Given the description of an element on the screen output the (x, y) to click on. 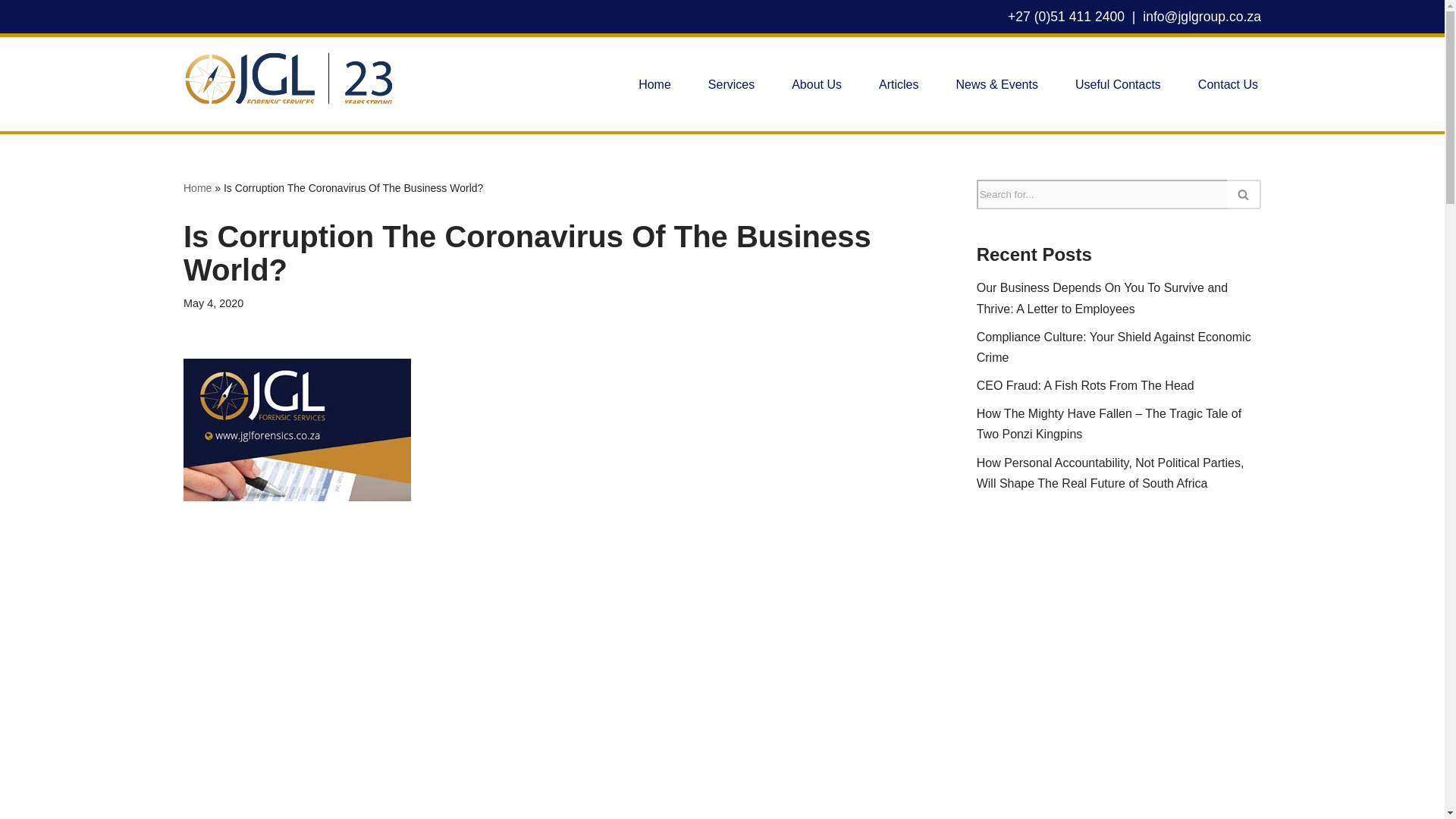
Is Corruption The Coronavirus Of The Business World? 1 (296, 429)
CEO Fraud: A Fish Rots From The Head (1084, 385)
Services (730, 84)
About Us (816, 84)
Compliance Culture: Your Shield Against Economic Crime (1113, 346)
Articles (898, 84)
Skip to content (11, 31)
Home (655, 84)
Home (197, 187)
Contact Us (1227, 84)
Useful Contacts (1117, 84)
